Given the description of an element on the screen output the (x, y) to click on. 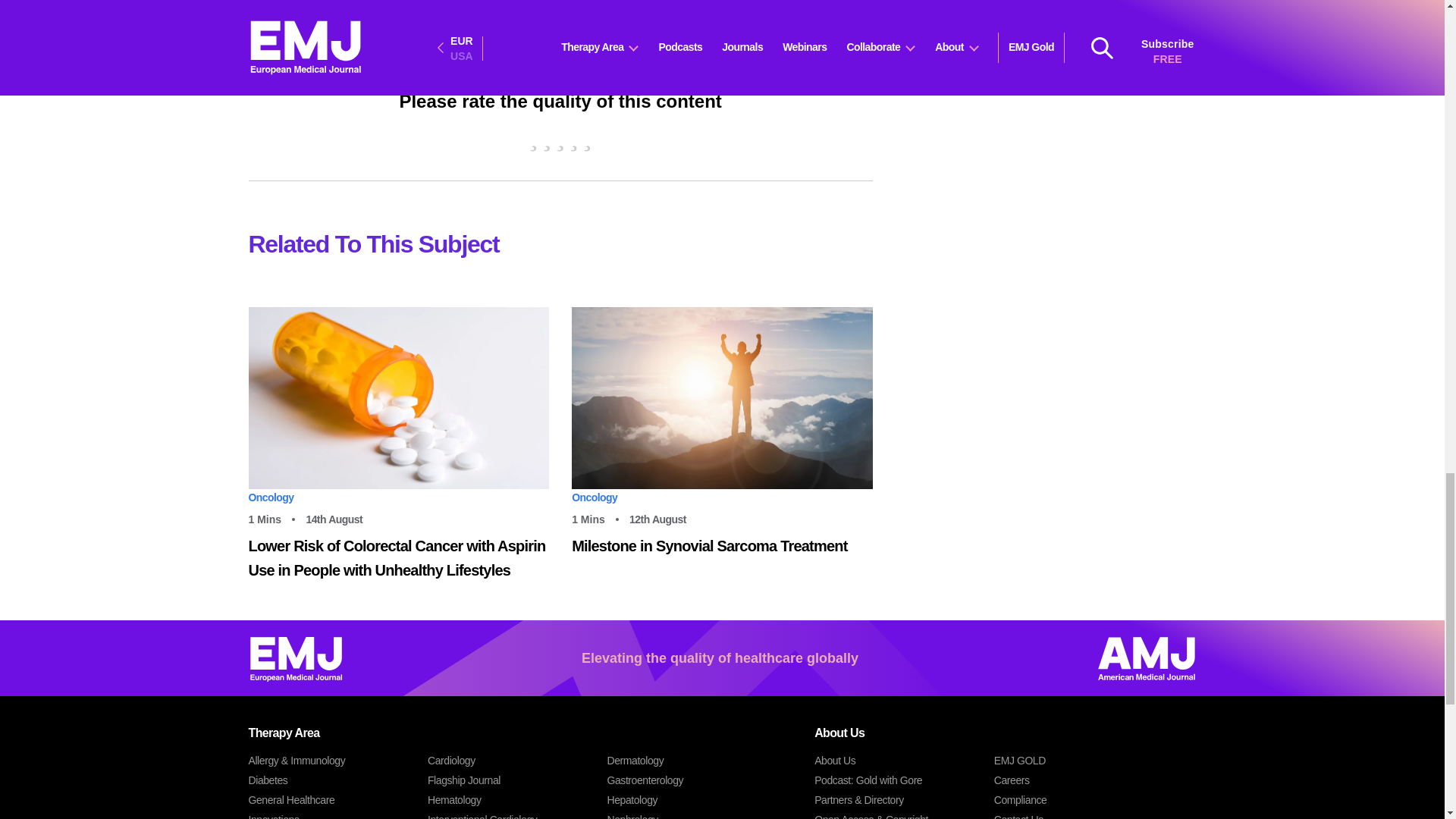
Estimated Read Time (275, 519)
Share to LinkedIn (357, 11)
Estimated Read Time (599, 519)
Share to Facebook (305, 11)
Share to Twitter (331, 13)
